Given the description of an element on the screen output the (x, y) to click on. 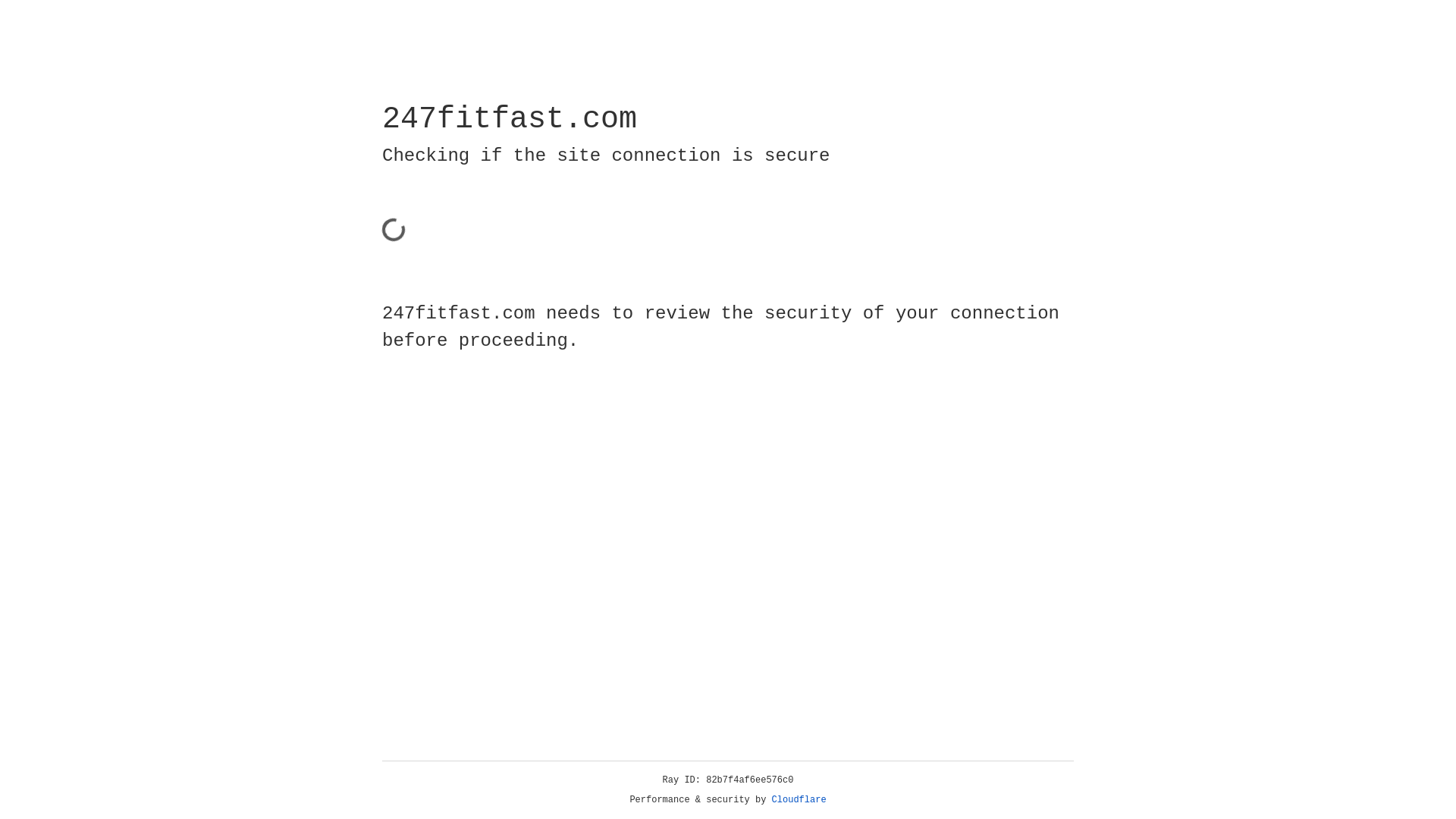
Cloudflare Element type: text (798, 799)
